Given the description of an element on the screen output the (x, y) to click on. 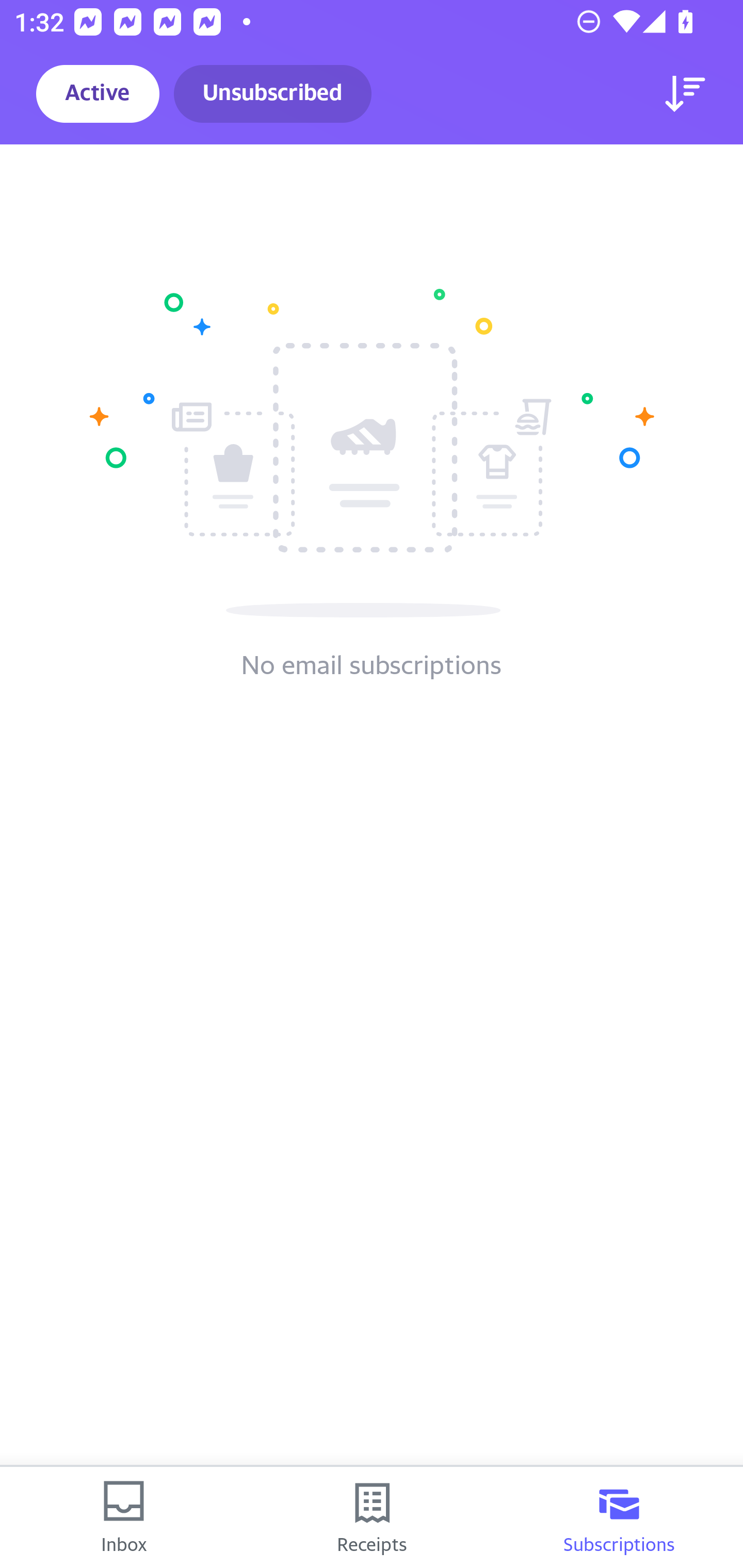
Unsubscribed (272, 93)
Sort (684, 93)
Inbox (123, 1517)
Receipts (371, 1517)
Subscriptions (619, 1517)
